Given the description of an element on the screen output the (x, y) to click on. 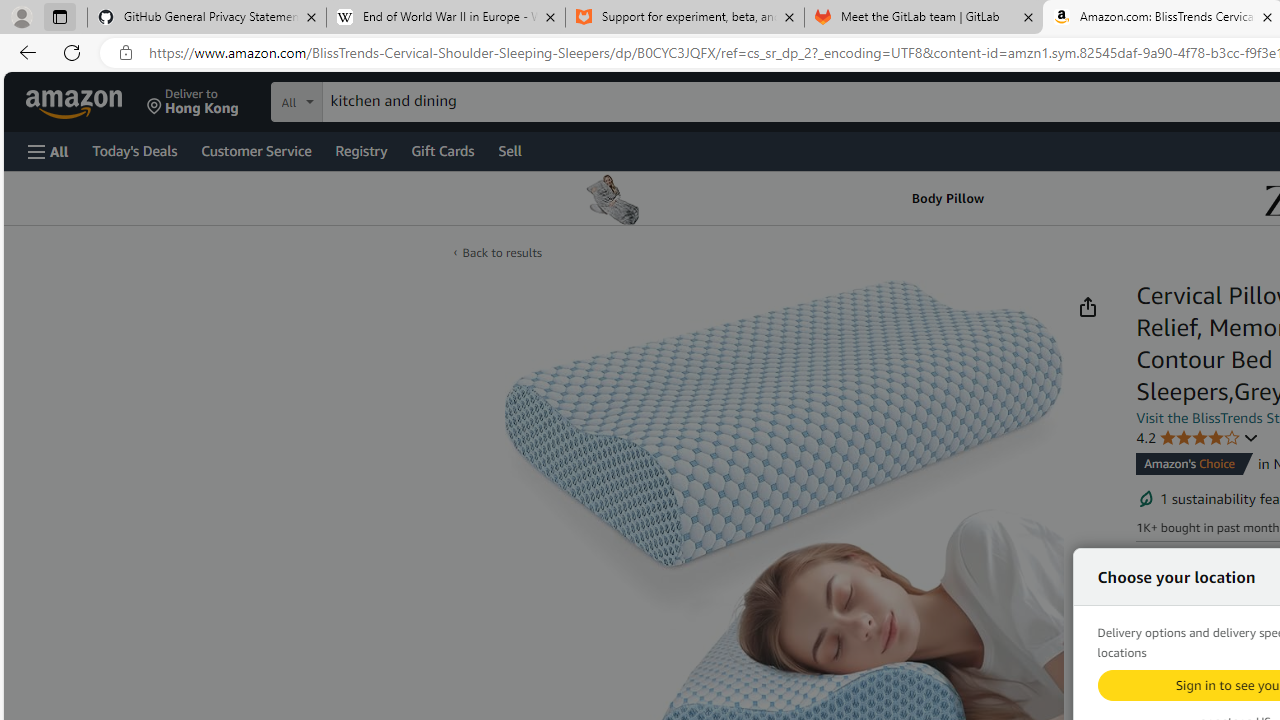
Learn more about Amazon pricing and savings (1238, 633)
Today's Deals (134, 150)
Amazon (76, 101)
Deliver to Hong Kong (193, 101)
Customer Service (256, 150)
Share (1087, 307)
GitHub General Privacy Statement - GitHub Docs (207, 17)
